Given the description of an element on the screen output the (x, y) to click on. 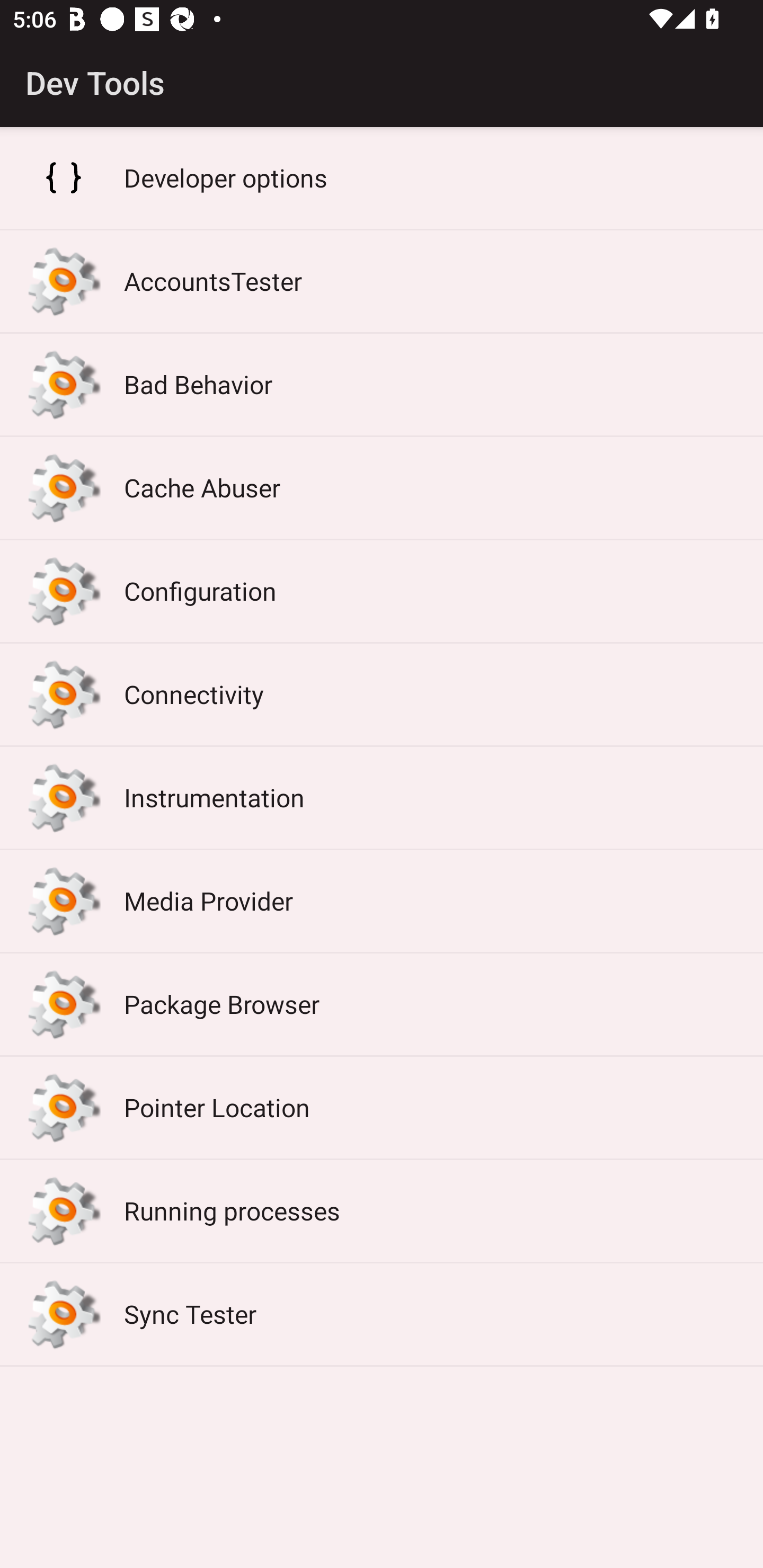
Developer options (381, 177)
AccountsTester (381, 281)
Bad Behavior (381, 384)
Cache Abuser (381, 488)
Configuration (381, 590)
Connectivity (381, 693)
Instrumentation (381, 797)
Media Provider (381, 900)
Package Browser (381, 1004)
Pointer Location (381, 1107)
Running processes (381, 1211)
Sync Tester (381, 1314)
